Given the description of an element on the screen output the (x, y) to click on. 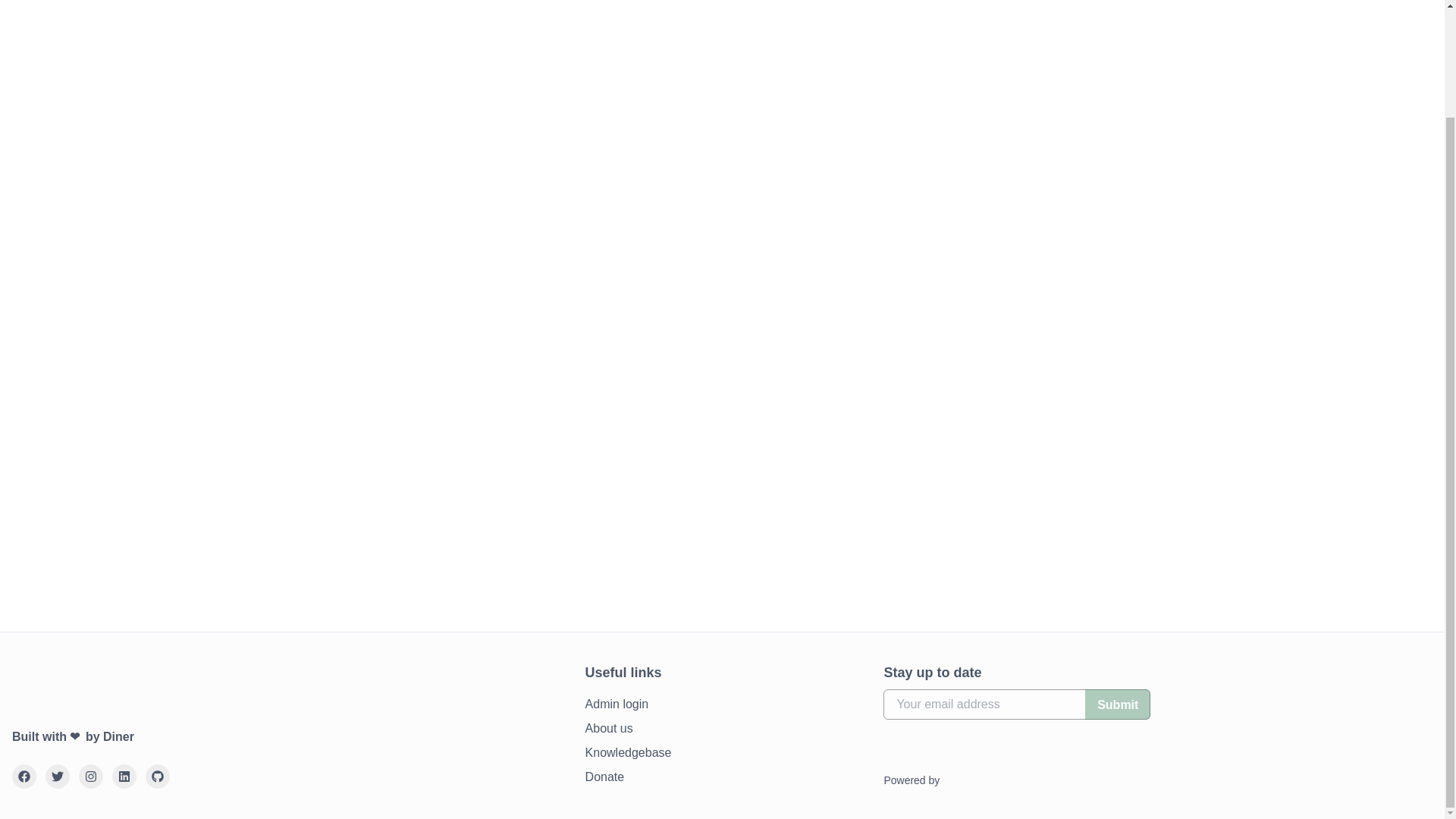
Instagram (90, 776)
Admin login (617, 704)
Twitter (57, 776)
About us (609, 728)
Donate (604, 777)
Github (157, 776)
LinkedIn (124, 776)
Knowledgebase (628, 752)
Submit (1117, 704)
Facebook (23, 776)
